Given the description of an element on the screen output the (x, y) to click on. 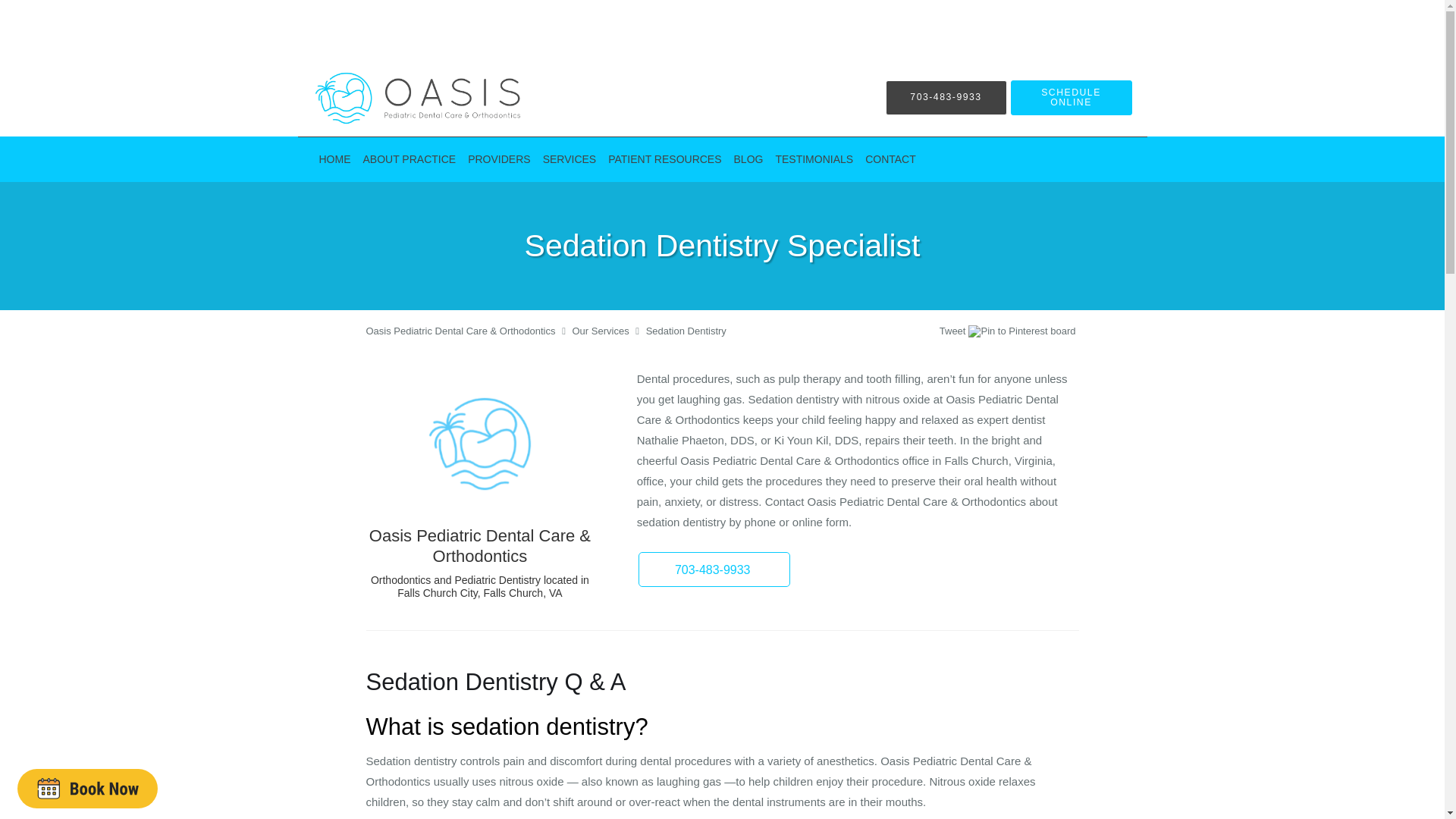
Our Services (600, 330)
TESTIMONIALS (813, 158)
ABOUT PRACTICE (408, 158)
SCHEDULE ONLINE (1070, 97)
703-483-9933 (714, 569)
PROVIDERS (498, 158)
Tweet (952, 330)
BLOG (749, 158)
PATIENT RESOURCES (664, 158)
703-483-9933 (946, 97)
